Given the description of an element on the screen output the (x, y) to click on. 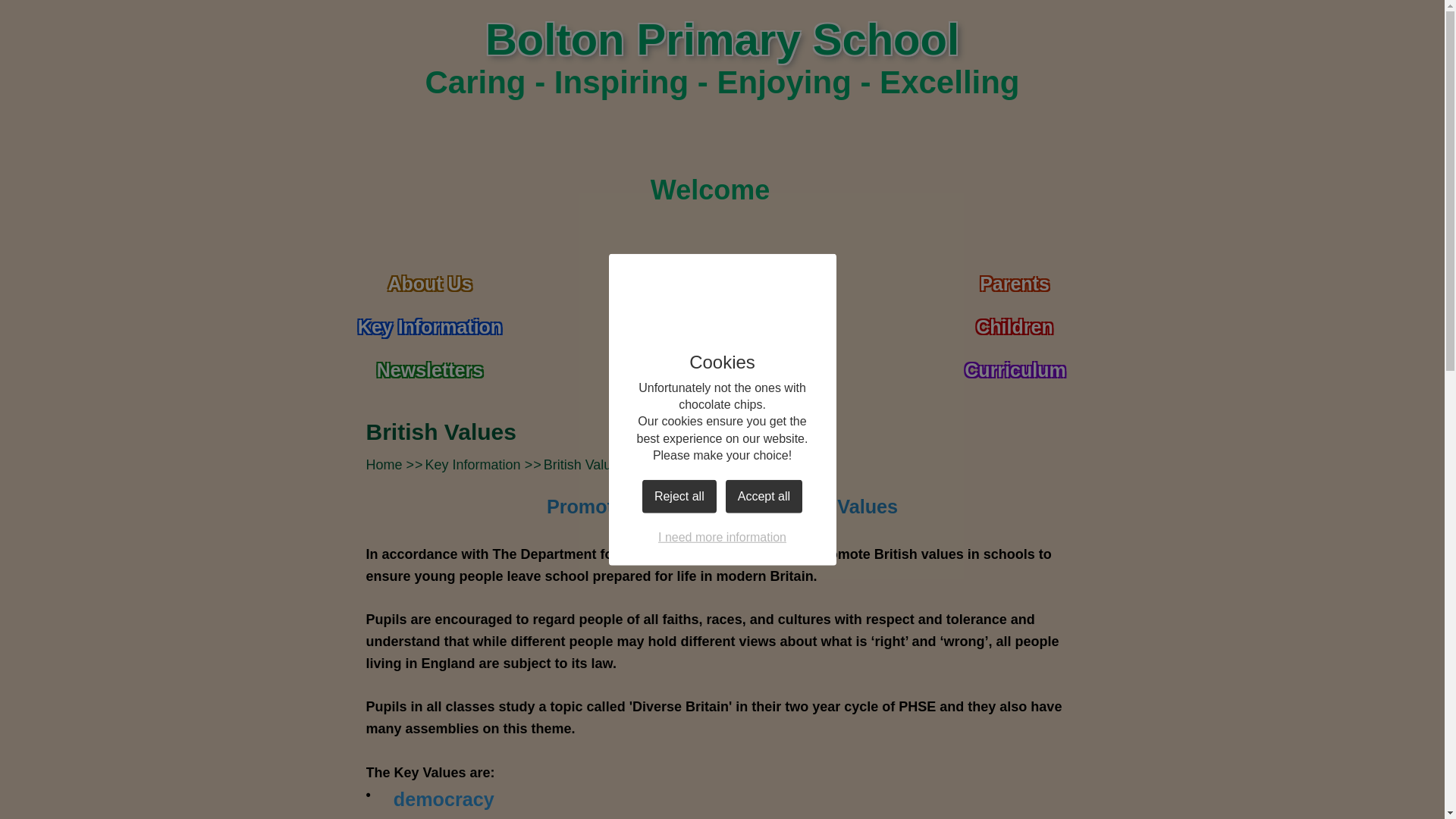
About Us (429, 276)
Home Page (409, 56)
Home Page (409, 56)
Key Information (473, 464)
British Values (584, 464)
Home (383, 464)
Key Information (429, 320)
